Given the description of an element on the screen output the (x, y) to click on. 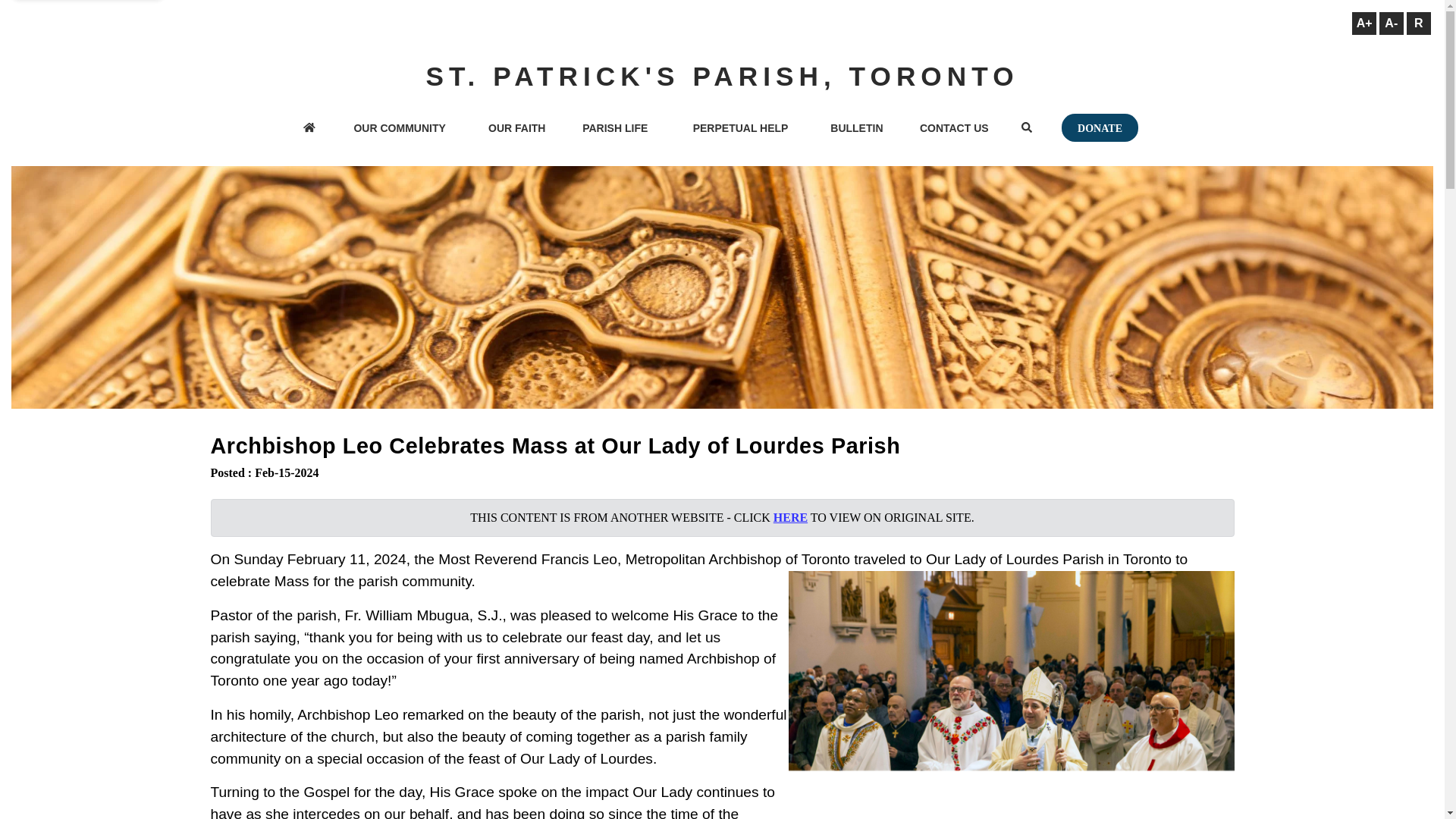
A- (1390, 23)
OUR FAITH (516, 128)
OUR COMMUNITY (399, 128)
Search (1027, 128)
Home (309, 128)
Donate (1099, 126)
Archbishop Leo Visits Our Lady of Lourdes Parish (1011, 694)
Increase font (1363, 23)
Reset font (1418, 23)
